Given the description of an element on the screen output the (x, y) to click on. 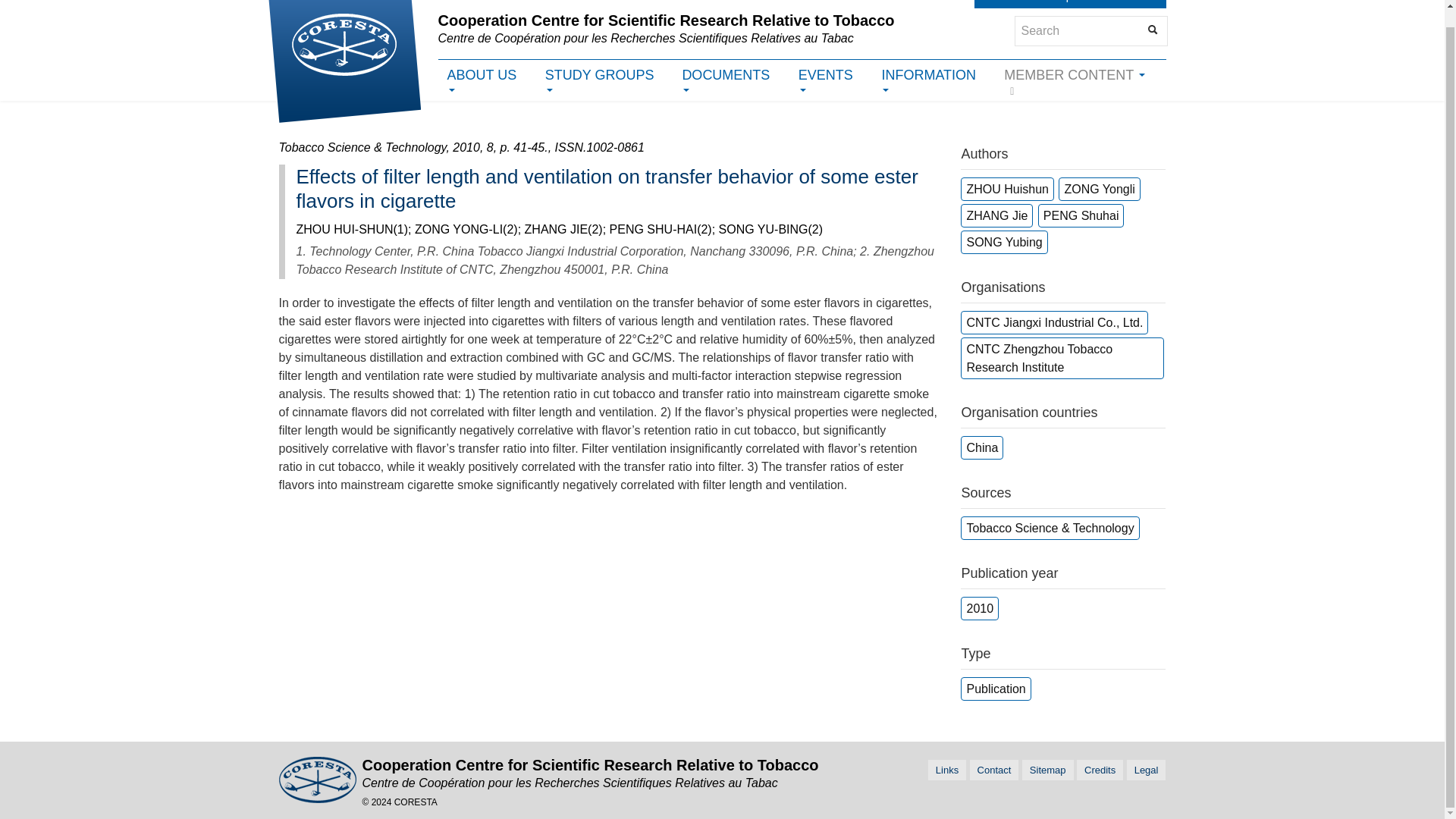
ABOUT US (486, 82)
Home (590, 773)
DOCUMENTS (730, 82)
Home (666, 28)
STUDY GROUPS (603, 82)
EVENTS (830, 82)
Join CORESTA (1019, 4)
Member Access (1118, 4)
Home (343, 51)
INFORMATION (933, 82)
